Given the description of an element on the screen output the (x, y) to click on. 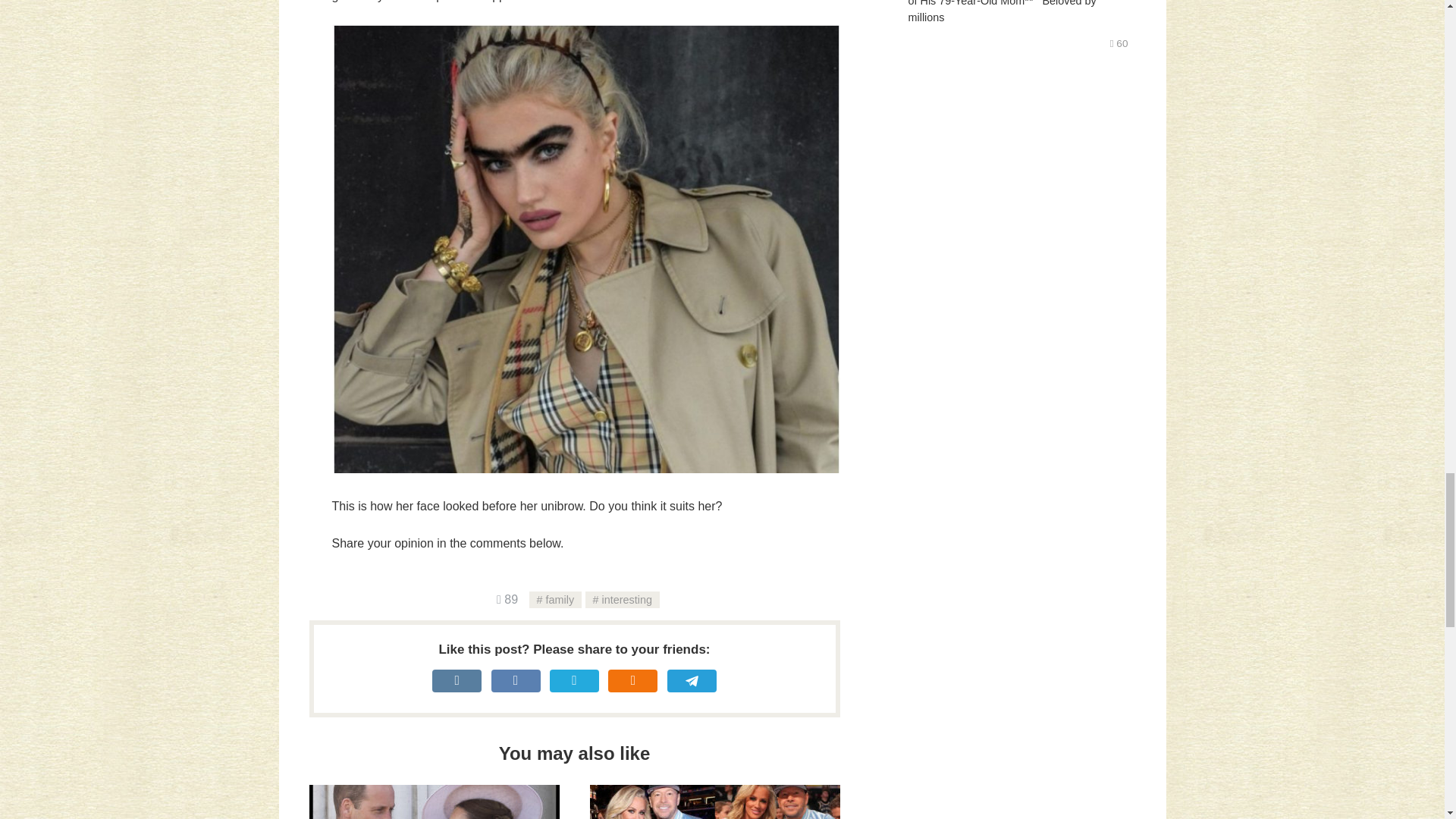
interesting (622, 599)
Views (714, 801)
family (433, 801)
